Given the description of an element on the screen output the (x, y) to click on. 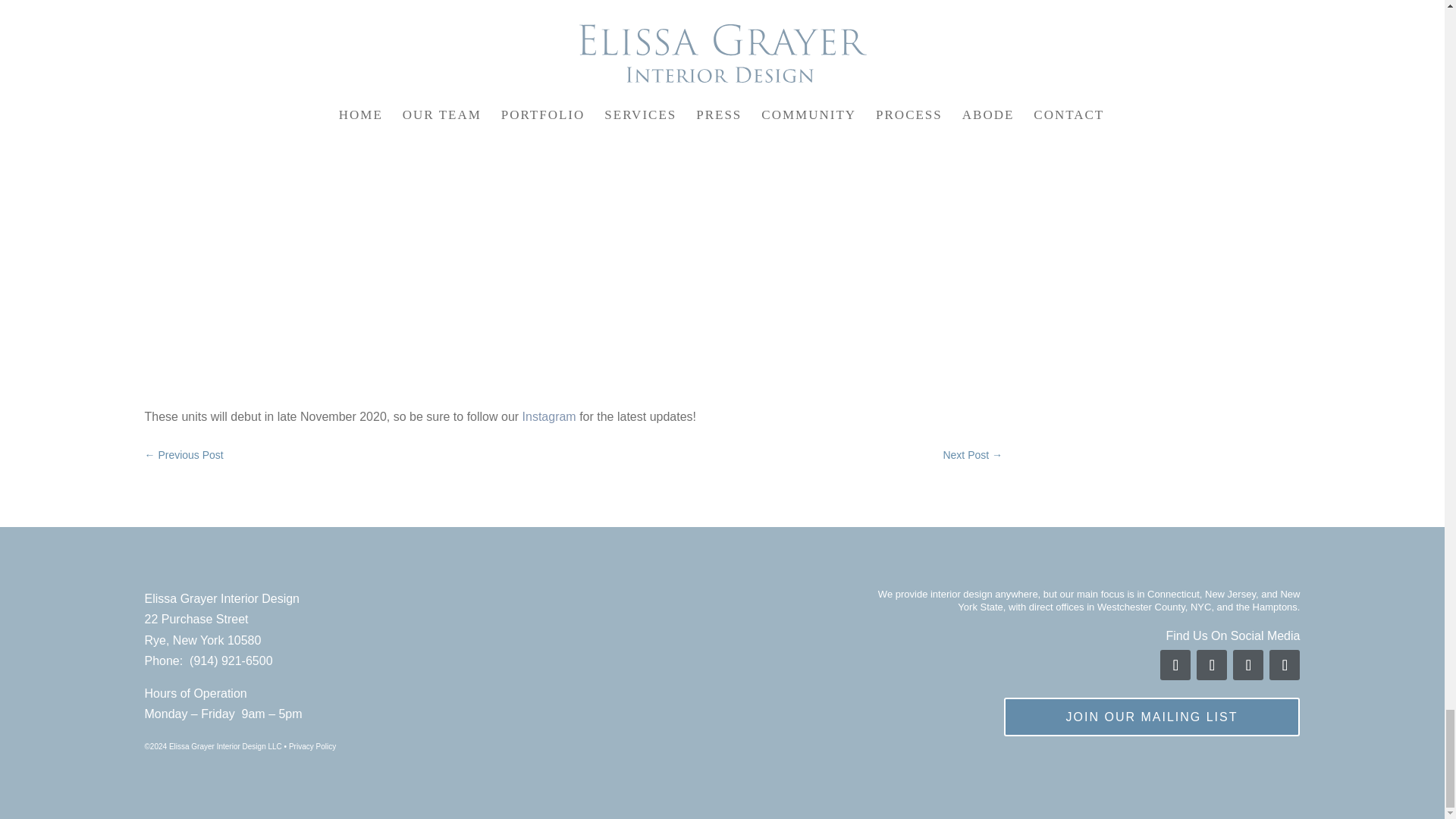
Follow on Instagram (1211, 665)
Privacy Policy (312, 746)
Instagram (549, 416)
JOIN OUR MAILING LIST (1152, 716)
Follow on LinkedIn (1284, 665)
Follow on Pinterest (1248, 665)
Follow on Facebook (1175, 665)
